Given the description of an element on the screen output the (x, y) to click on. 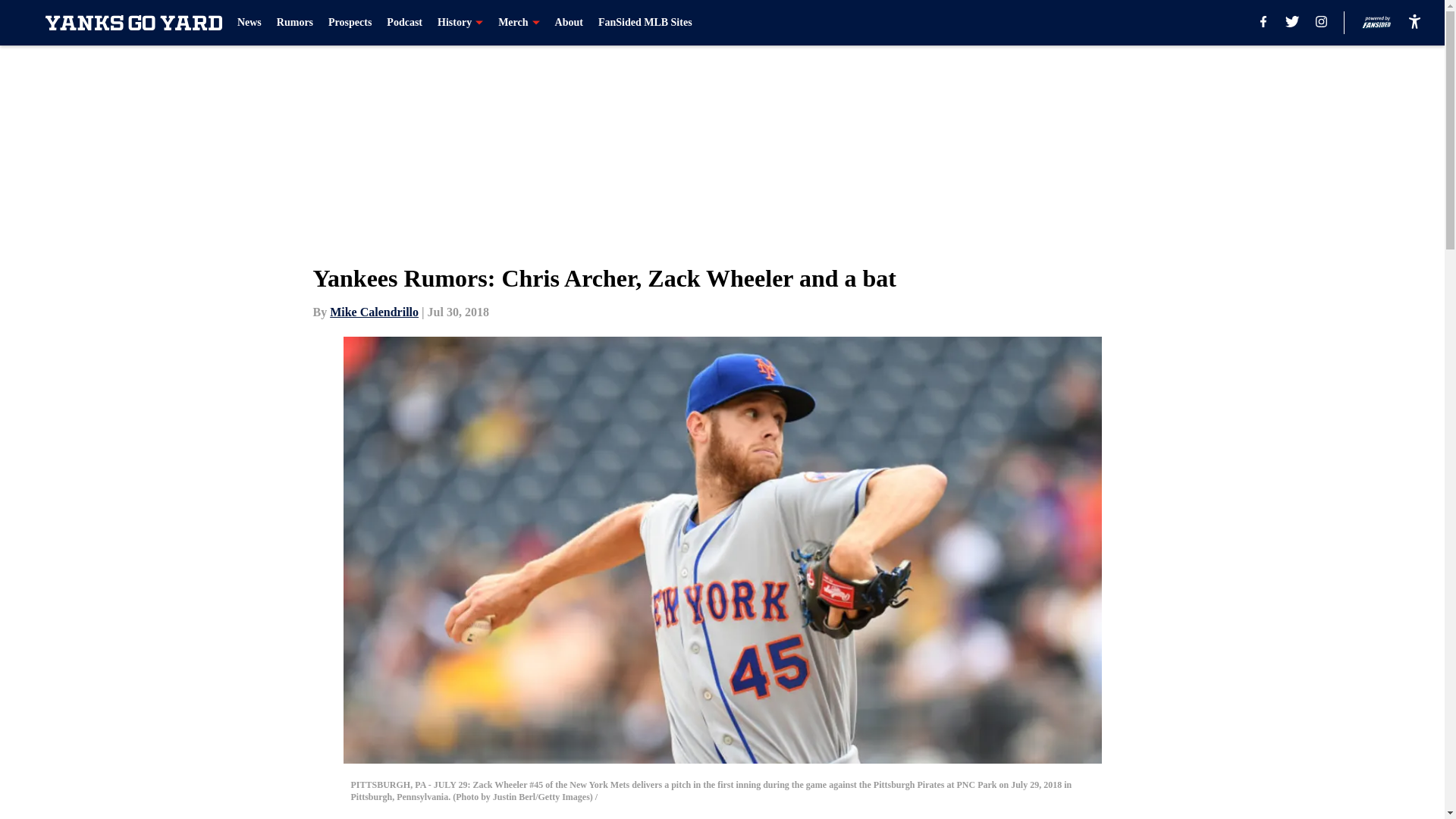
Rumors (294, 22)
Prospects (350, 22)
Podcast (404, 22)
FanSided MLB Sites (645, 22)
Mike Calendrillo (374, 311)
About (568, 22)
News (249, 22)
